Given the description of an element on the screen output the (x, y) to click on. 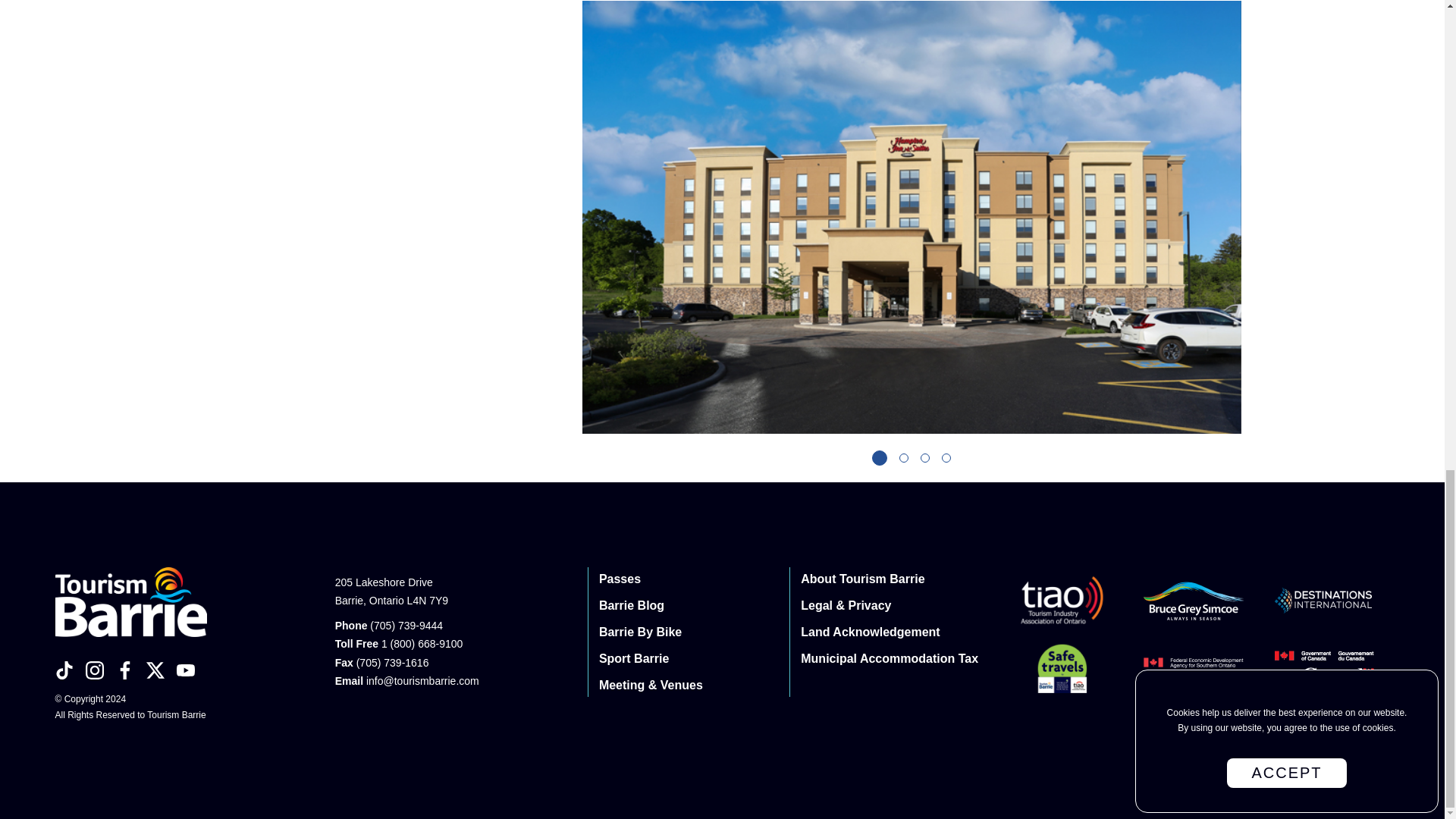
Safe Travels (1061, 667)
Tourism Industry Association of Ontario (1061, 600)
Federal Economic Development Agency of Southern Ontario (1193, 663)
Bruce Grey Simcoe (1193, 600)
Tourism Barrie - White (130, 608)
Destinations International (1325, 600)
Government of Canada (1325, 667)
